Given the description of an element on the screen output the (x, y) to click on. 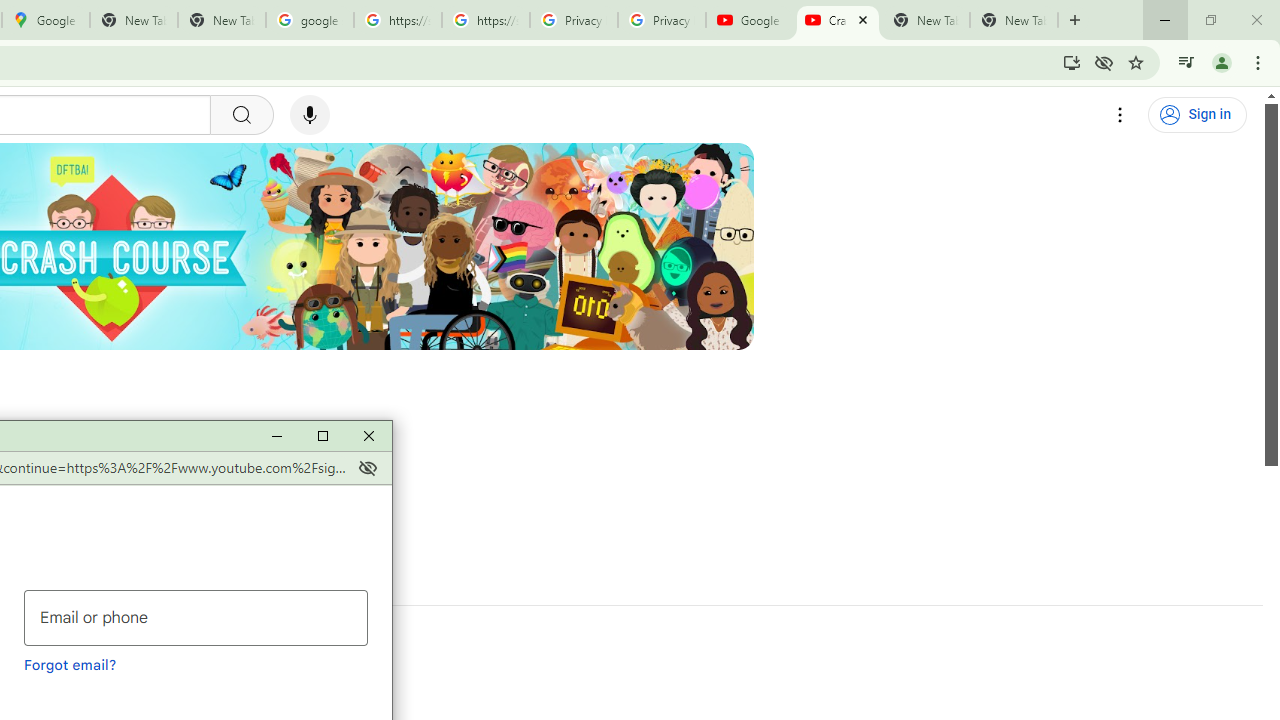
Search with your voice (309, 115)
New Tab (1014, 20)
Install YouTube (1071, 62)
Forgot email? (70, 664)
CrashCourse - YouTube (837, 20)
